Given the description of an element on the screen output the (x, y) to click on. 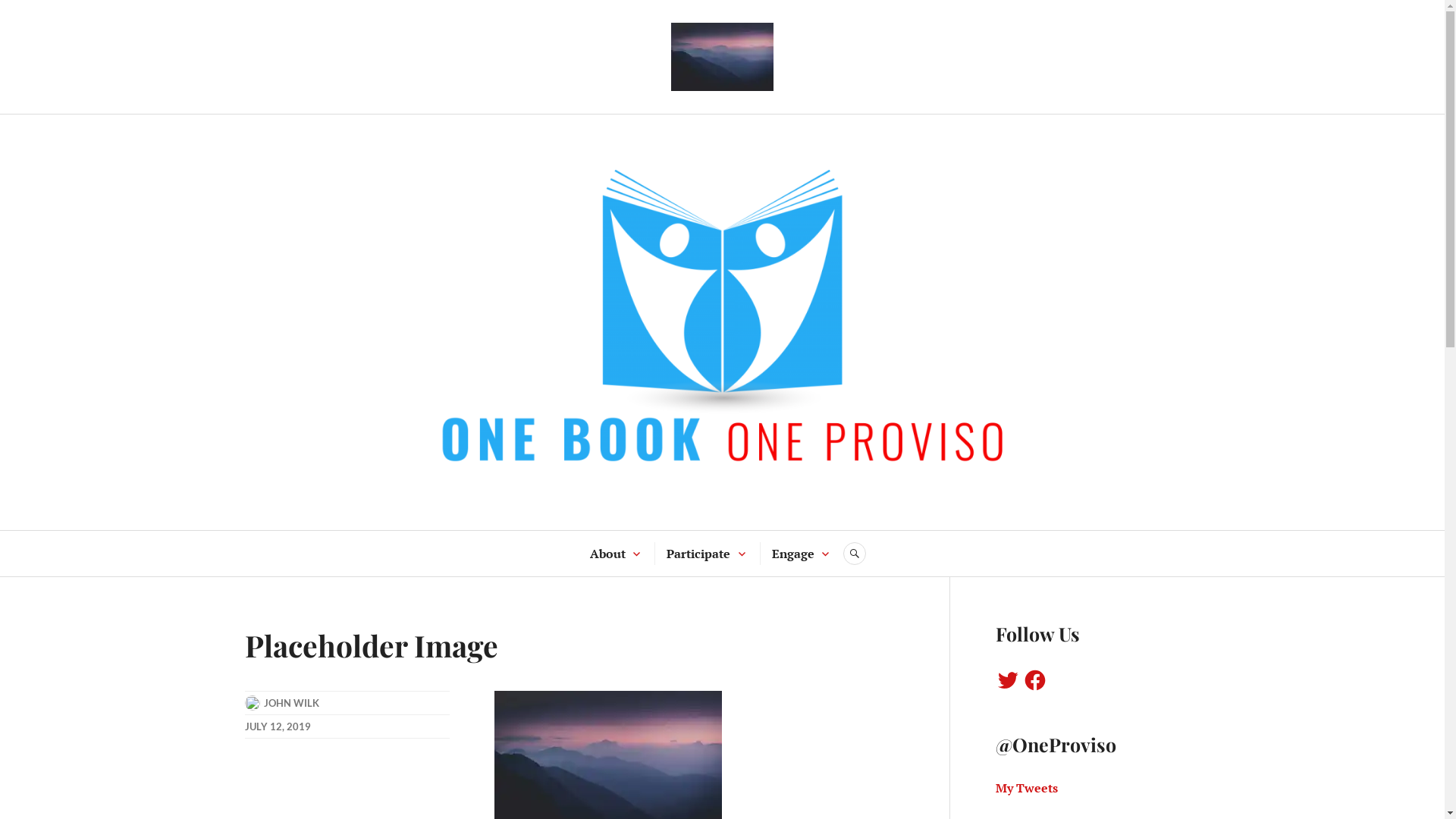
About Element type: text (607, 553)
Participate Element type: text (698, 553)
Engage Element type: text (792, 553)
SEARCH Element type: text (854, 553)
Twitter Element type: text (1006, 680)
Facebook Element type: text (1034, 680)
JOHN WILK Element type: text (291, 702)
My Tweets Element type: text (1025, 787)
JULY 12, 2019 Element type: text (277, 726)
